Given the description of an element on the screen output the (x, y) to click on. 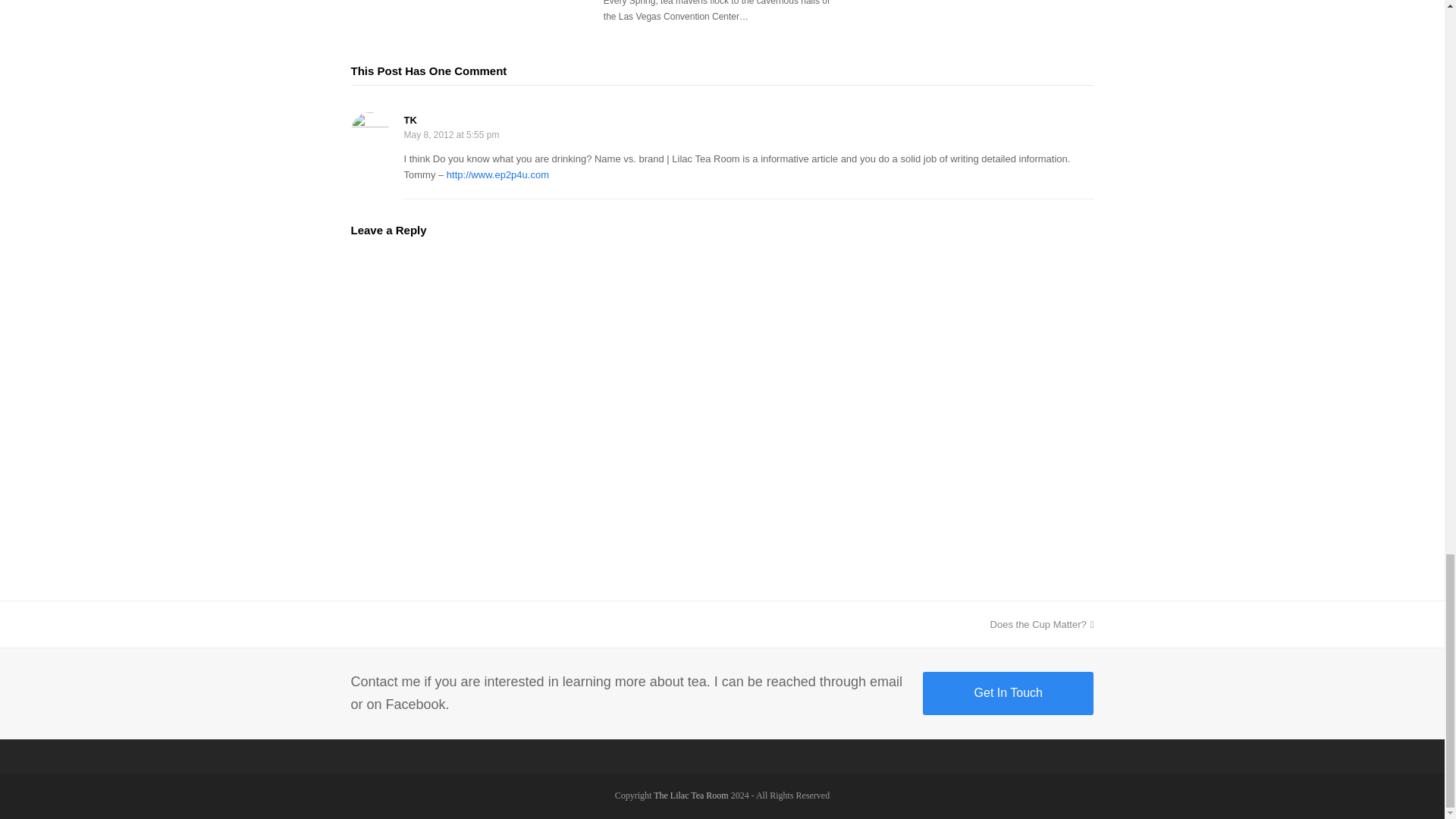
Get In Touch (1008, 692)
TK (409, 120)
May 8, 2012 at 5:55 pm (451, 134)
The Lilac Tea Room (1042, 624)
